Given the description of an element on the screen output the (x, y) to click on. 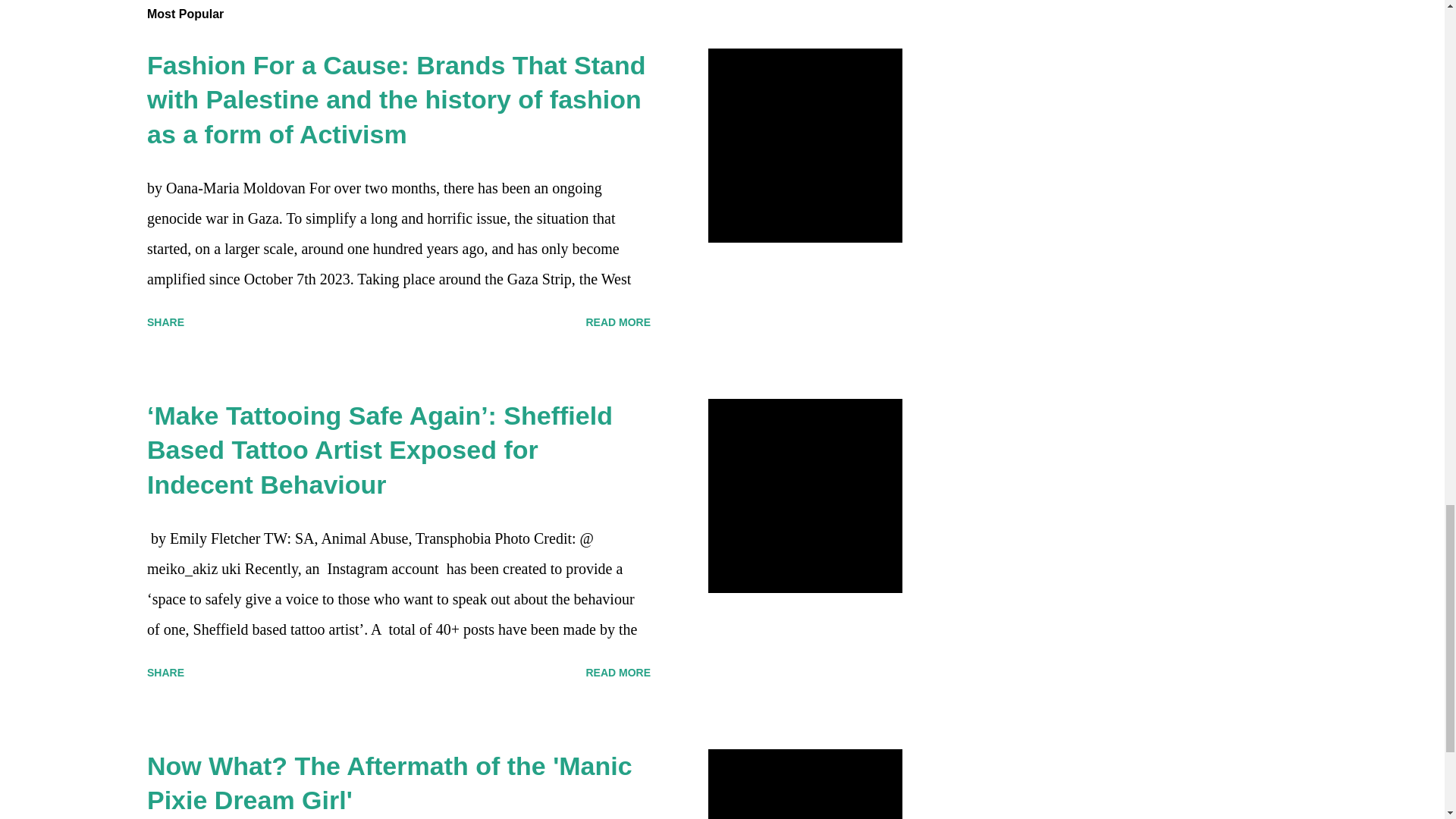
Now What? The Aftermath of the 'Manic Pixie Dream Girl' (389, 782)
SHARE (165, 672)
READ MORE (617, 672)
SHARE (165, 322)
READ MORE (617, 322)
